Given the description of an element on the screen output the (x, y) to click on. 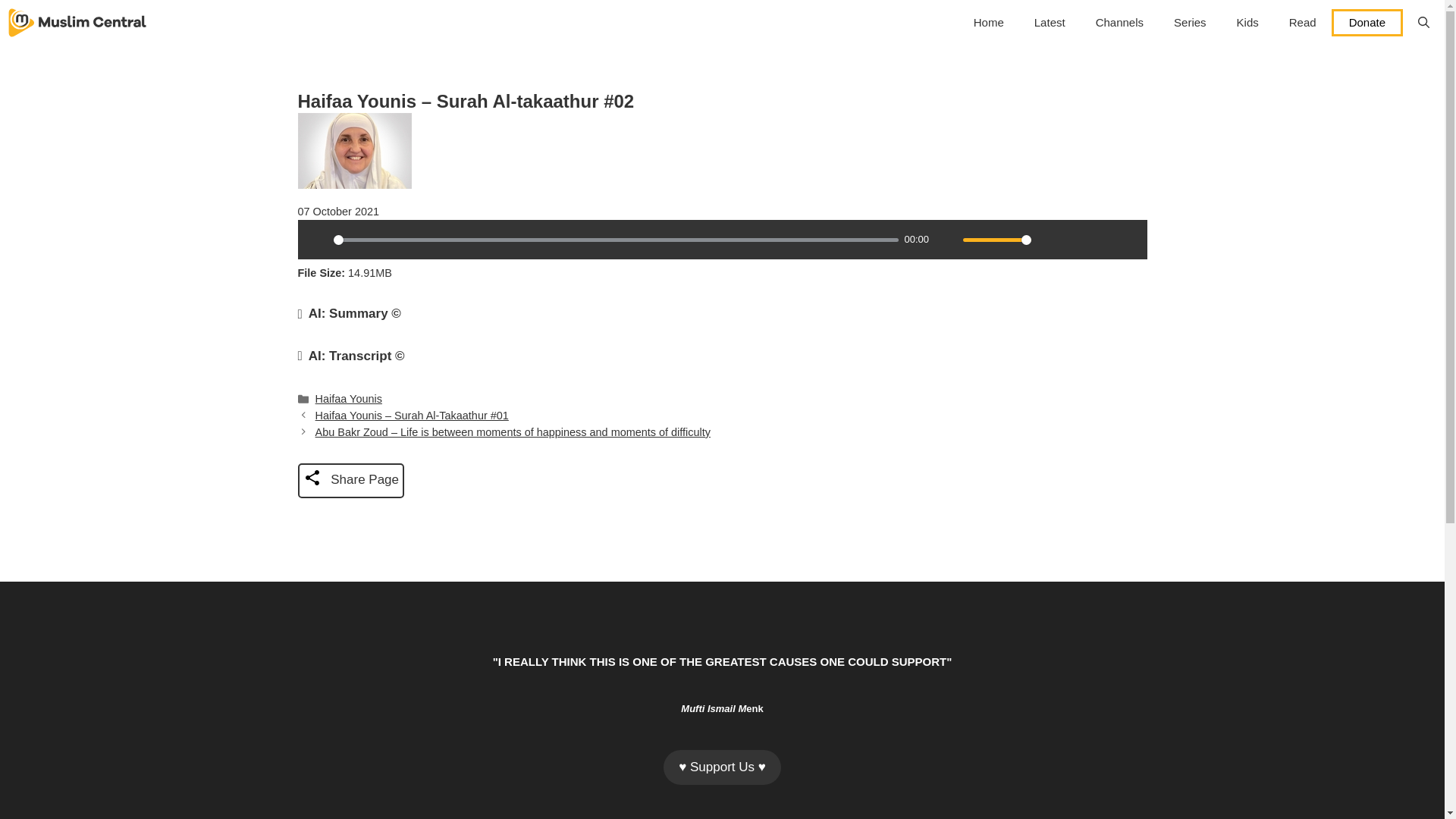
Download (1074, 239)
0 (615, 239)
1 (996, 239)
Home (988, 22)
Read (1303, 22)
Play (316, 239)
Mute (946, 239)
Kids (1247, 22)
Rewind 10s (1101, 239)
Channels (1119, 22)
